Given the description of an element on the screen output the (x, y) to click on. 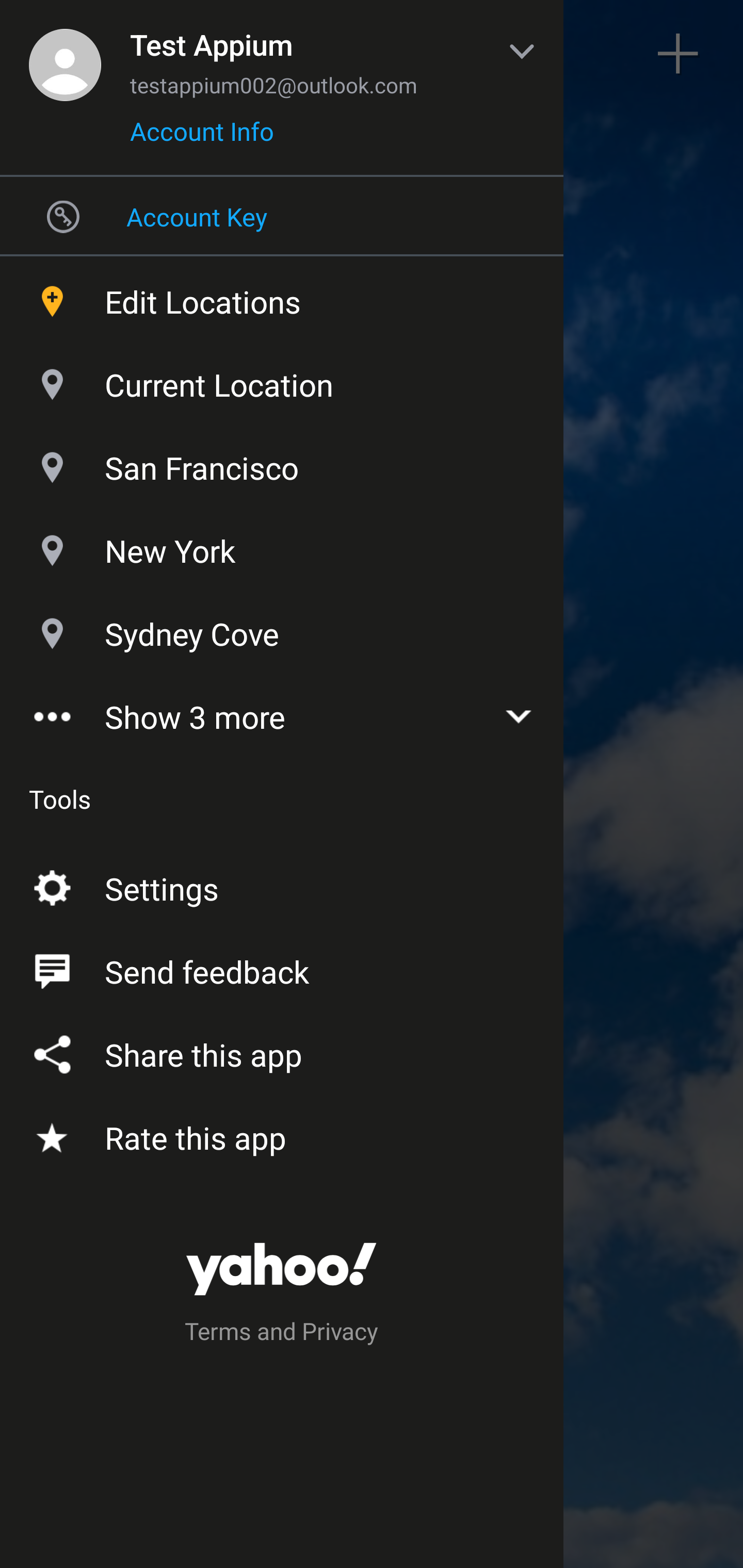
Sidebar (64, 54)
Account Info (202, 137)
Account Key (281, 216)
Edit Locations (281, 296)
Current Location (281, 379)
San Francisco (281, 462)
New York (281, 546)
Sydney Cove (281, 629)
Settings (281, 884)
Send feedback (281, 967)
Share this app (281, 1050)
Terms and Privacy Terms and privacy button (281, 1334)
